Given the description of an element on the screen output the (x, y) to click on. 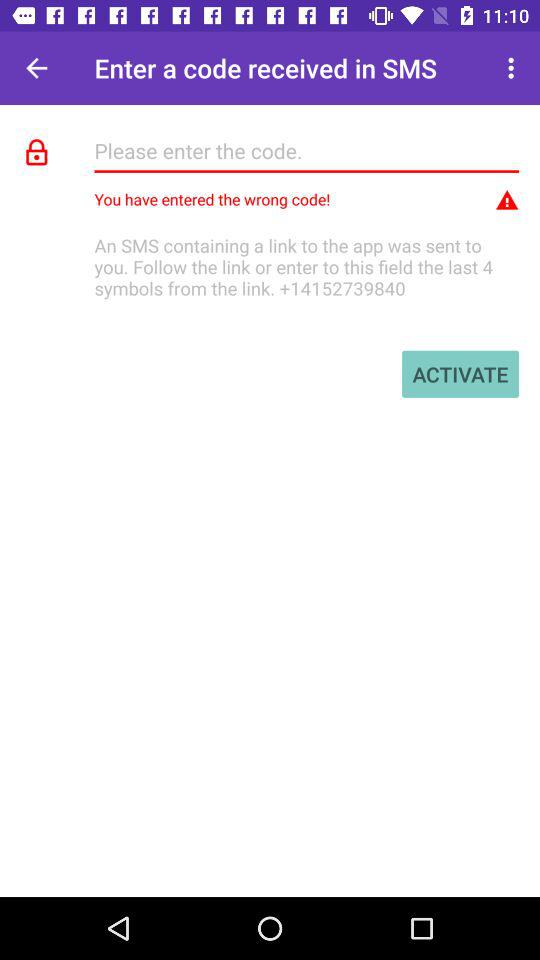
turn on icon to the left of the enter a code icon (36, 68)
